Given the description of an element on the screen output the (x, y) to click on. 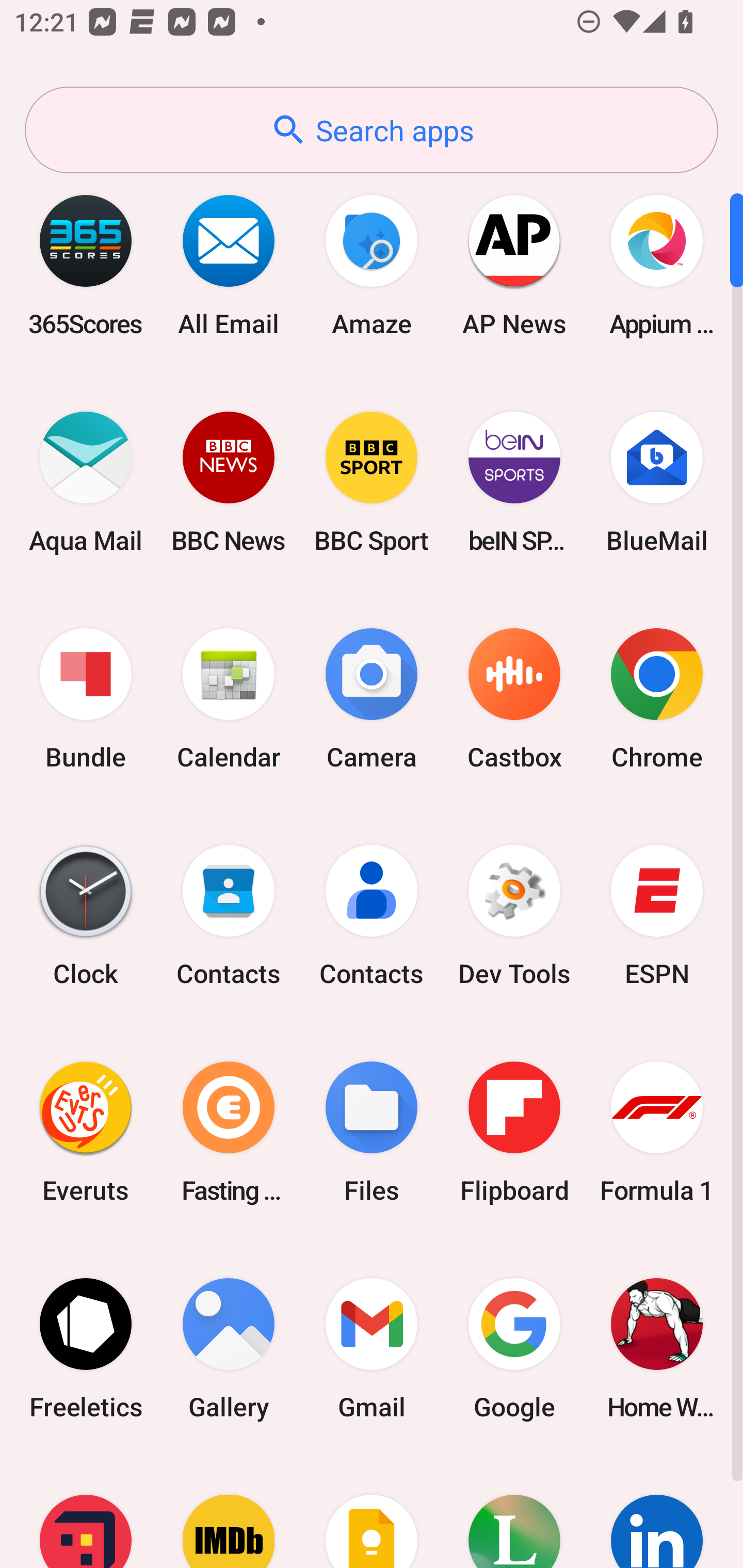
  Search apps (371, 130)
365Scores (85, 264)
All Email (228, 264)
Amaze (371, 264)
AP News (514, 264)
Appium Settings (656, 264)
Aqua Mail (85, 482)
BBC News (228, 482)
BBC Sport (371, 482)
beIN SPORTS (514, 482)
BlueMail (656, 482)
Bundle (85, 699)
Calendar (228, 699)
Camera (371, 699)
Castbox (514, 699)
Chrome (656, 699)
Clock (85, 915)
Contacts (228, 915)
Contacts (371, 915)
Dev Tools (514, 915)
ESPN (656, 915)
Everuts (85, 1131)
Fasting Coach (228, 1131)
Files (371, 1131)
Flipboard (514, 1131)
Formula 1 (656, 1131)
Freeletics (85, 1348)
Gallery (228, 1348)
Gmail (371, 1348)
Google (514, 1348)
Home Workout (656, 1348)
Hotels.com (85, 1512)
IMDb (228, 1512)
Keep Notes (371, 1512)
Lifesum (514, 1512)
LinkedIn (656, 1512)
